Given the description of an element on the screen output the (x, y) to click on. 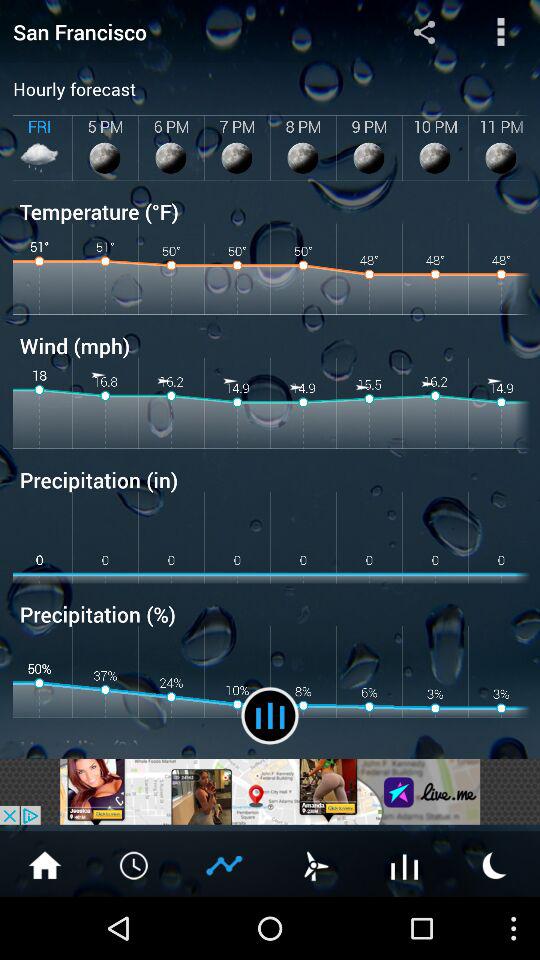
music volume option (269, 715)
